Given the description of an element on the screen output the (x, y) to click on. 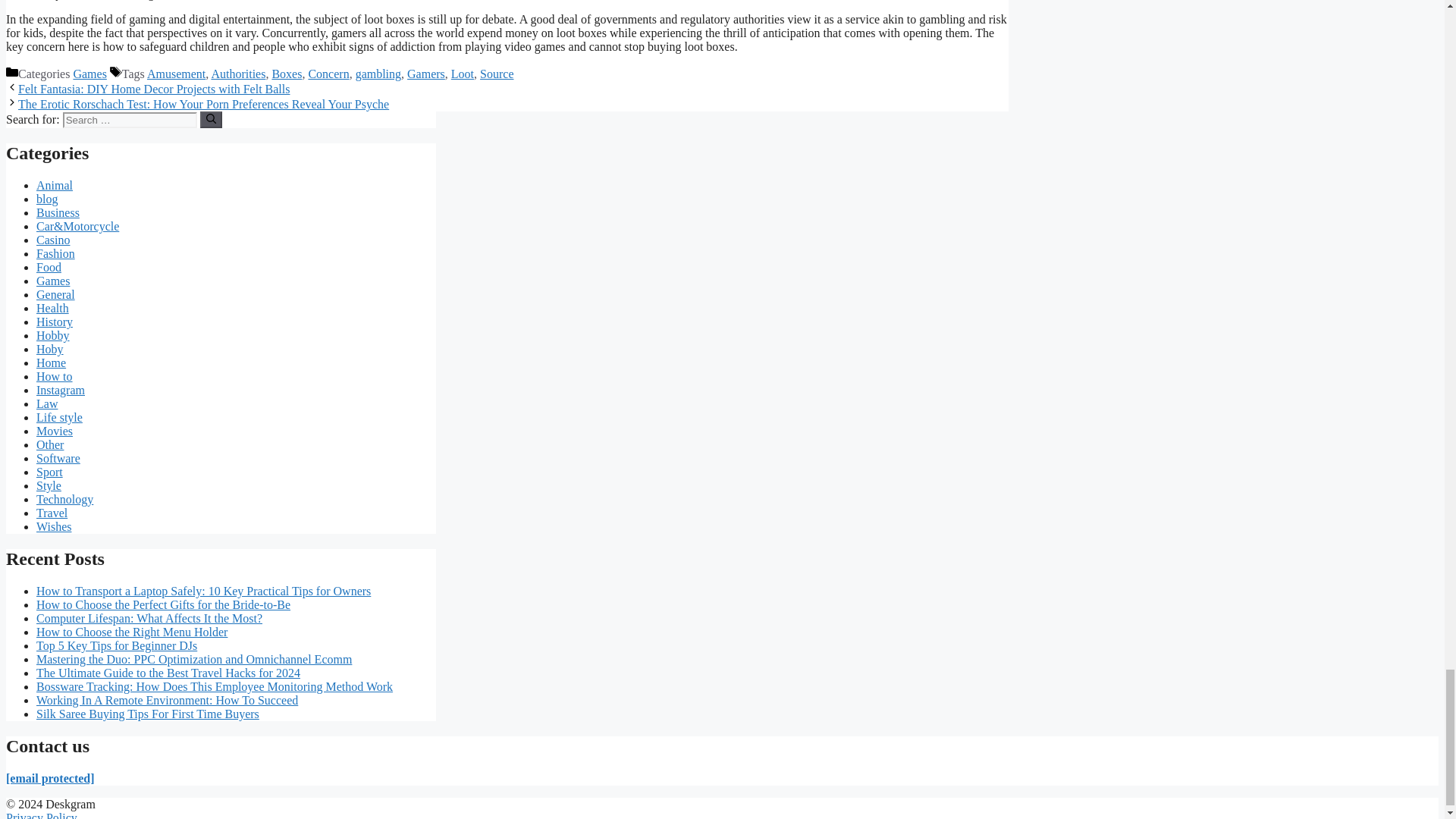
Casino (52, 239)
General (55, 294)
Felt Fantasia: DIY Home Decor Projects with Felt Balls (153, 88)
Concern (328, 73)
Games (89, 73)
Search for: (129, 119)
Source (496, 73)
Business (58, 212)
Food (48, 267)
Hobby (52, 335)
Games (52, 280)
Home (50, 362)
Gamers (426, 73)
Loot (462, 73)
